Given the description of an element on the screen output the (x, y) to click on. 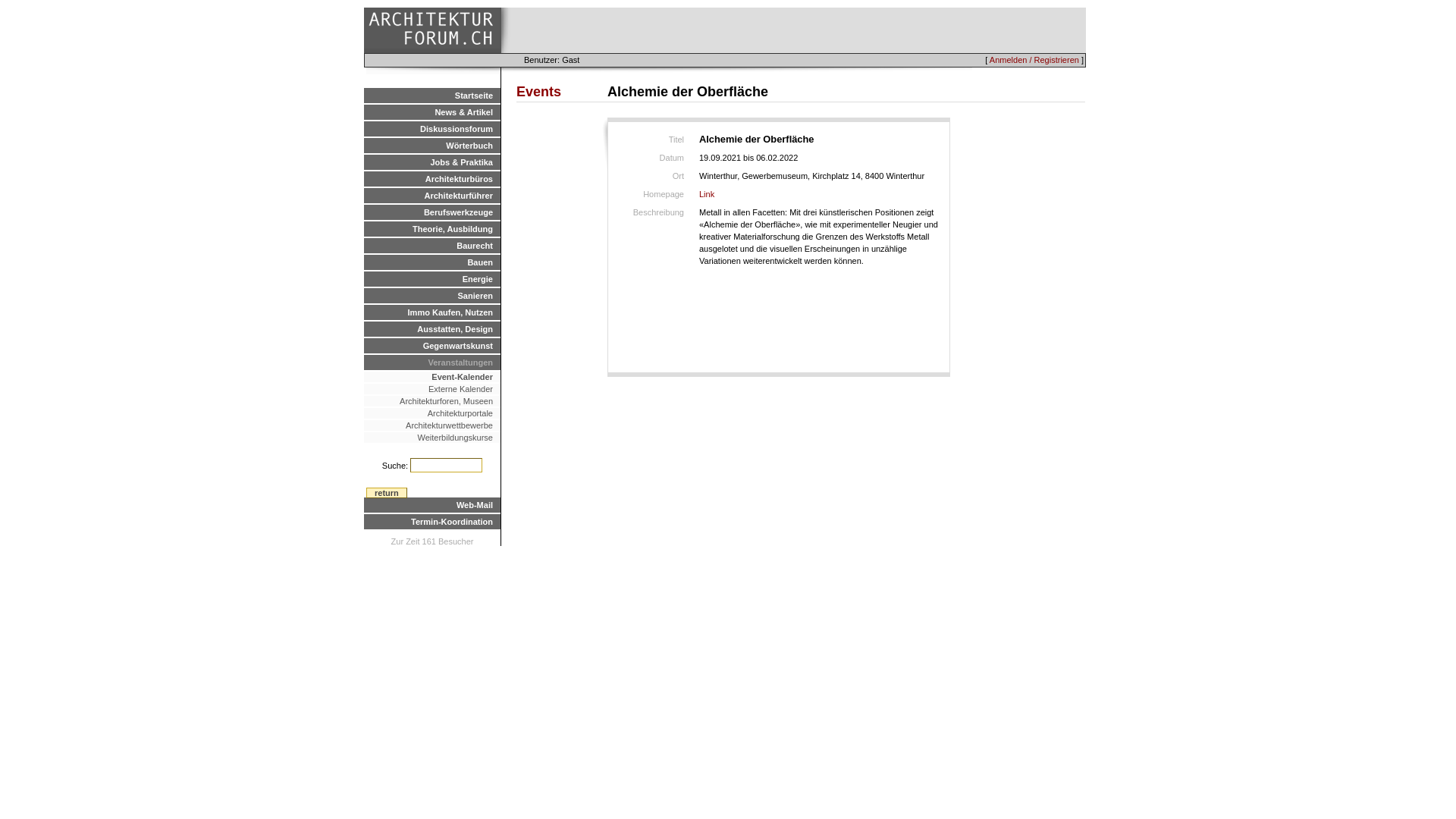
Startseite Element type: text (432, 95)
Jobs & Praktika Element type: text (432, 161)
News & Artikel Element type: text (432, 111)
Events Element type: text (538, 91)
Weiterbildungskurse Element type: text (432, 437)
return Element type: text (386, 492)
Architekturportale Element type: text (432, 412)
Energie Element type: text (432, 278)
Bauen Element type: text (432, 261)
Anmelden / Registrieren Element type: text (1034, 59)
Berufswerkzeuge Element type: text (432, 211)
Ausstatten, Design Element type: text (432, 328)
Veranstaltungen Element type: text (432, 362)
Link Element type: text (706, 193)
Event-Kalender Element type: text (432, 376)
Termin-Koordination Element type: text (432, 521)
Sanieren Element type: text (432, 295)
Web-Mail Element type: text (432, 504)
Immo Kaufen, Nutzen Element type: text (432, 312)
Architekturwettbewerbe Element type: text (432, 425)
Diskussionsforum Element type: text (432, 128)
Externe Kalender Element type: text (432, 388)
Baurecht Element type: text (432, 245)
Architekturforen, Museen Element type: text (432, 400)
Theorie, Ausbildung Element type: text (432, 228)
Gegenwartskunst Element type: text (432, 345)
